Given the description of an element on the screen output the (x, y) to click on. 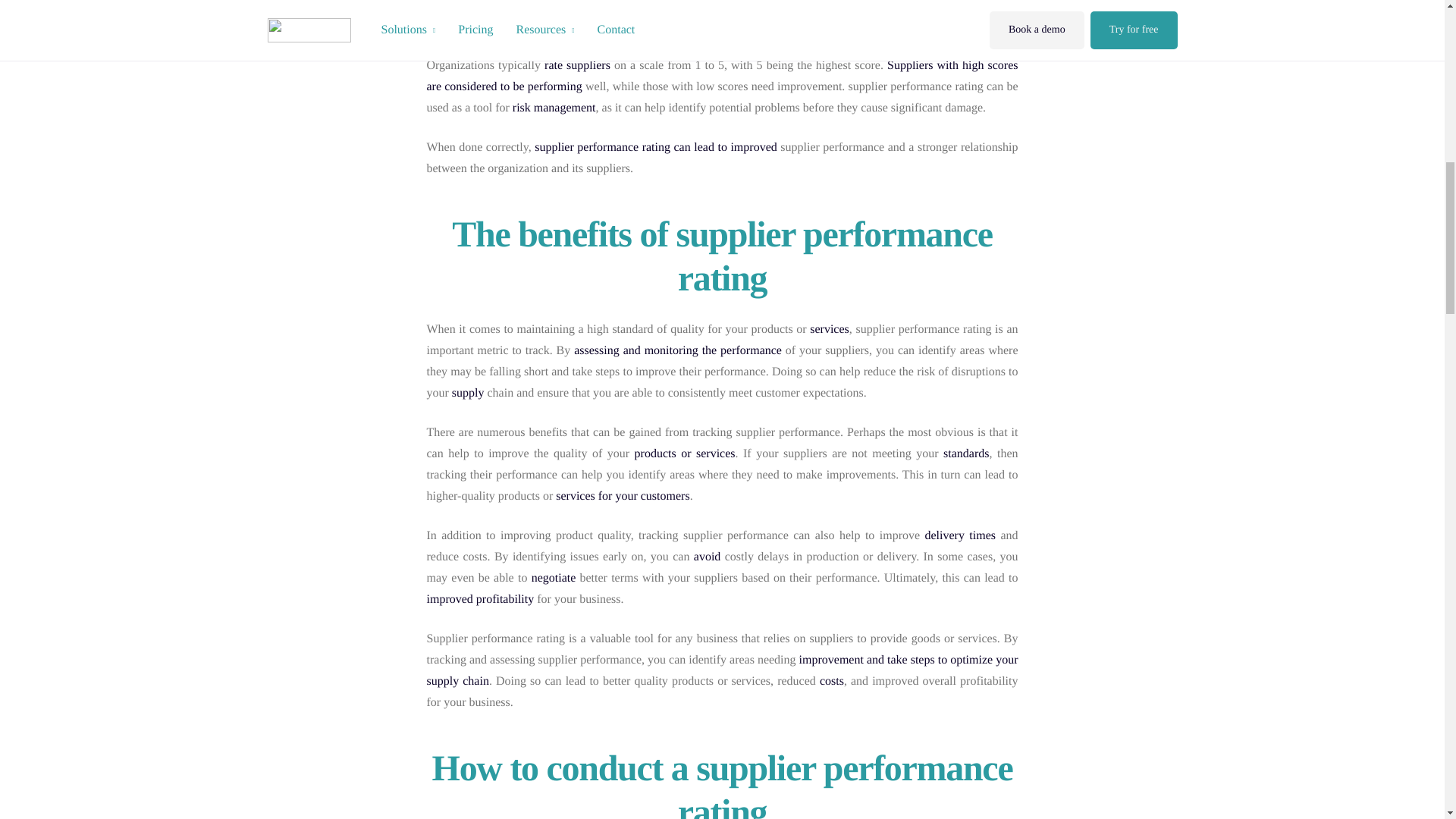
rate suppliers (577, 65)
Suppliers with high scores are considered to be performing (721, 75)
quality (943, 5)
Qualitative measures (502, 25)
risk management (553, 107)
supplier performance rating can lead to improved (655, 146)
services (828, 328)
